Given the description of an element on the screen output the (x, y) to click on. 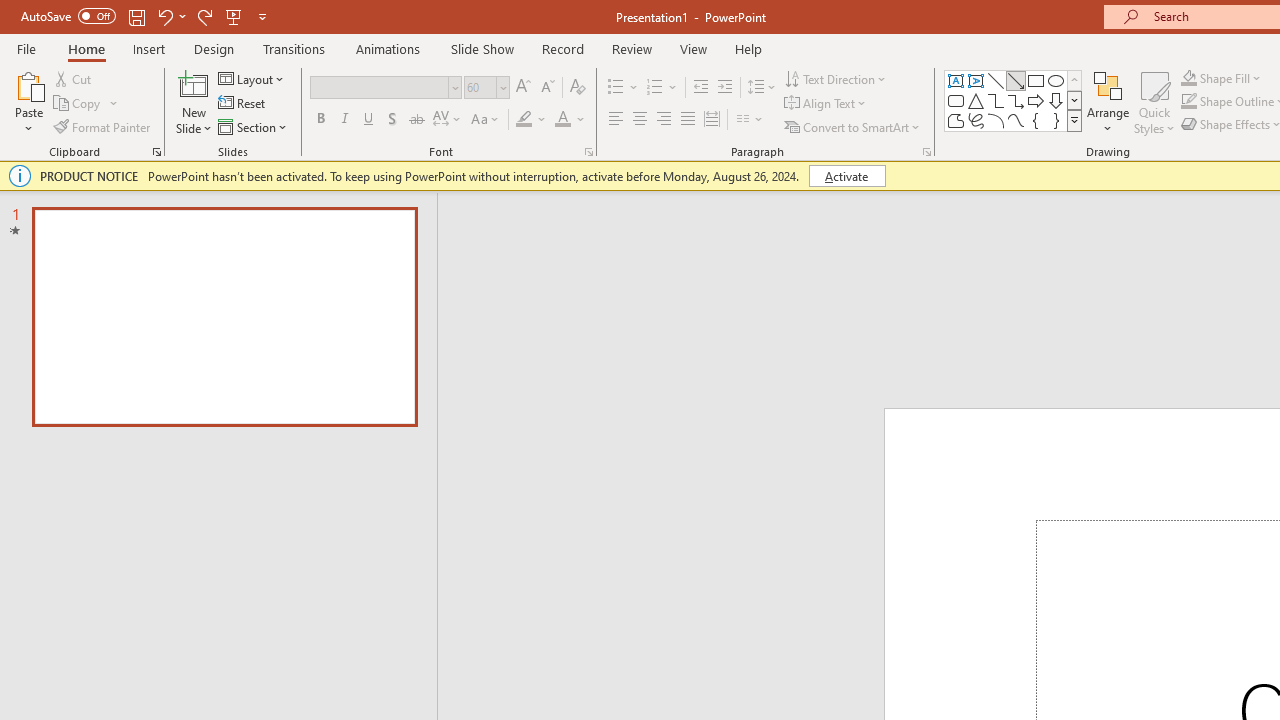
Shape Outline Dark Red, Accent 1 (1188, 101)
